Given the description of an element on the screen output the (x, y) to click on. 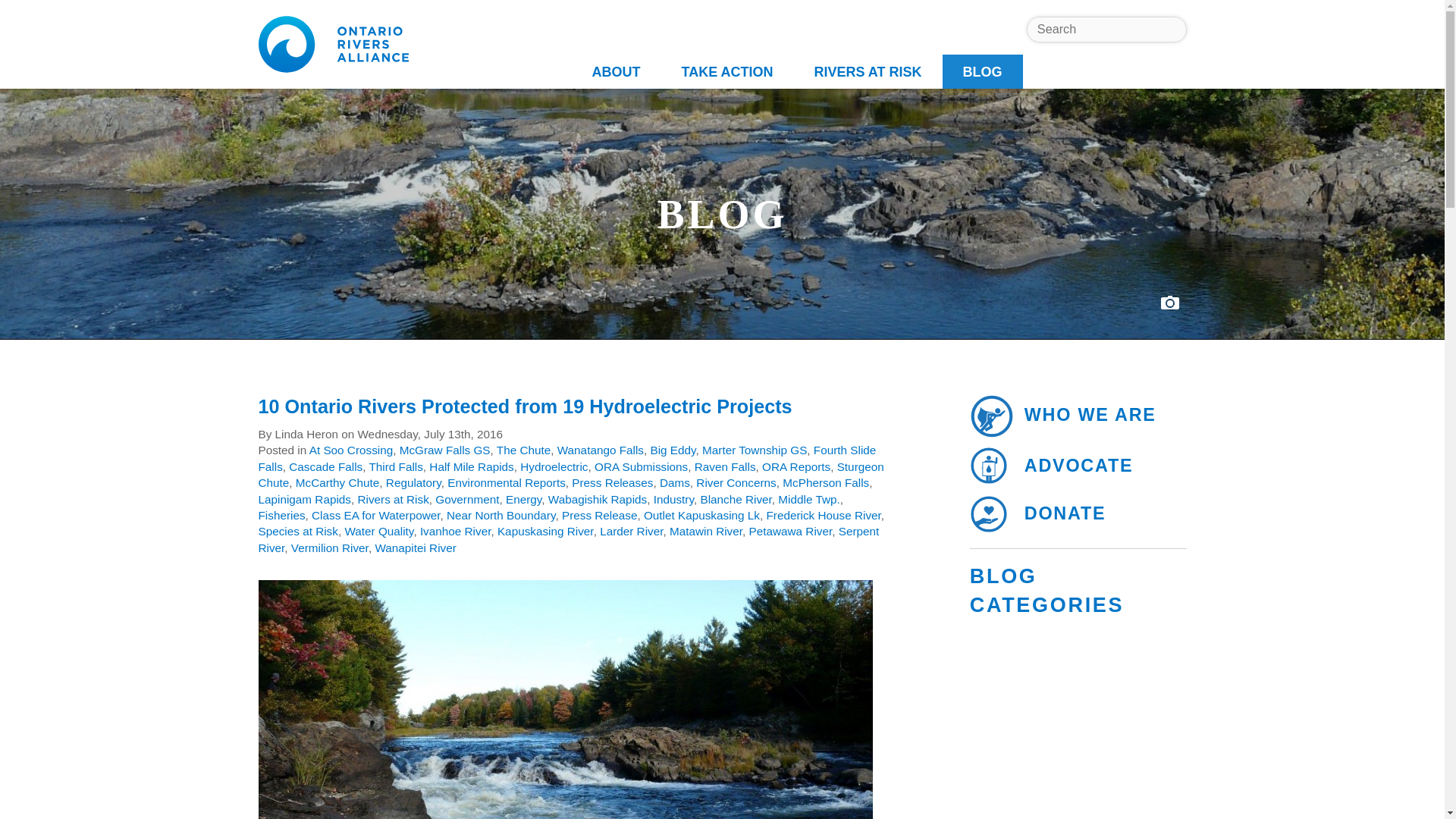
Big Eddy (672, 449)
TAKE ACTION (727, 71)
McGraw Falls GS (444, 449)
Hydroelectric (553, 466)
Third Falls (395, 466)
RIVERS AT RISK (867, 71)
The Chute (523, 449)
ABOUT (615, 71)
Marter Township GS (753, 449)
At Soo Crossing (350, 449)
